Given the description of an element on the screen output the (x, y) to click on. 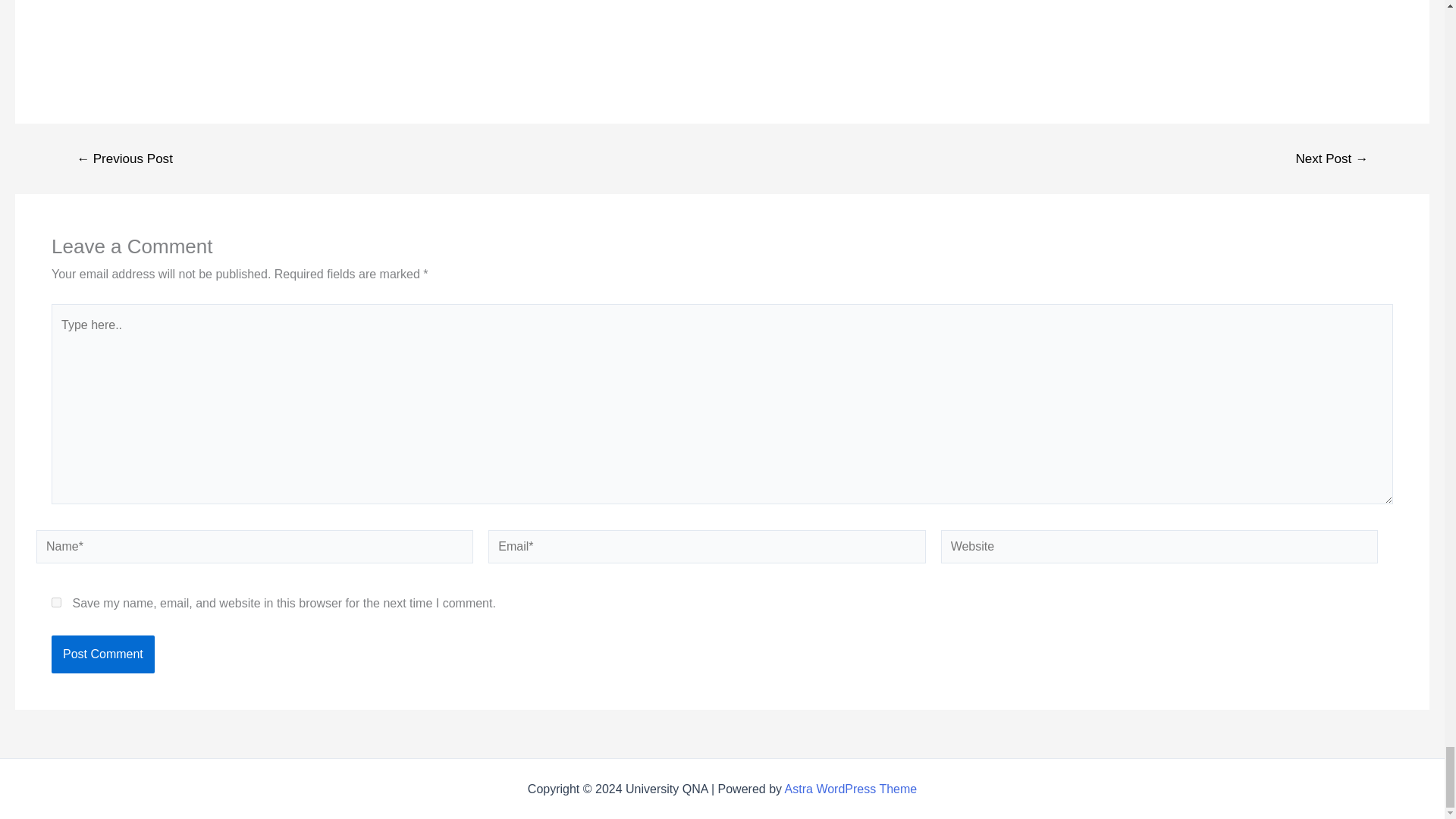
yes (55, 602)
Post Comment (102, 654)
